Given the description of an element on the screen output the (x, y) to click on. 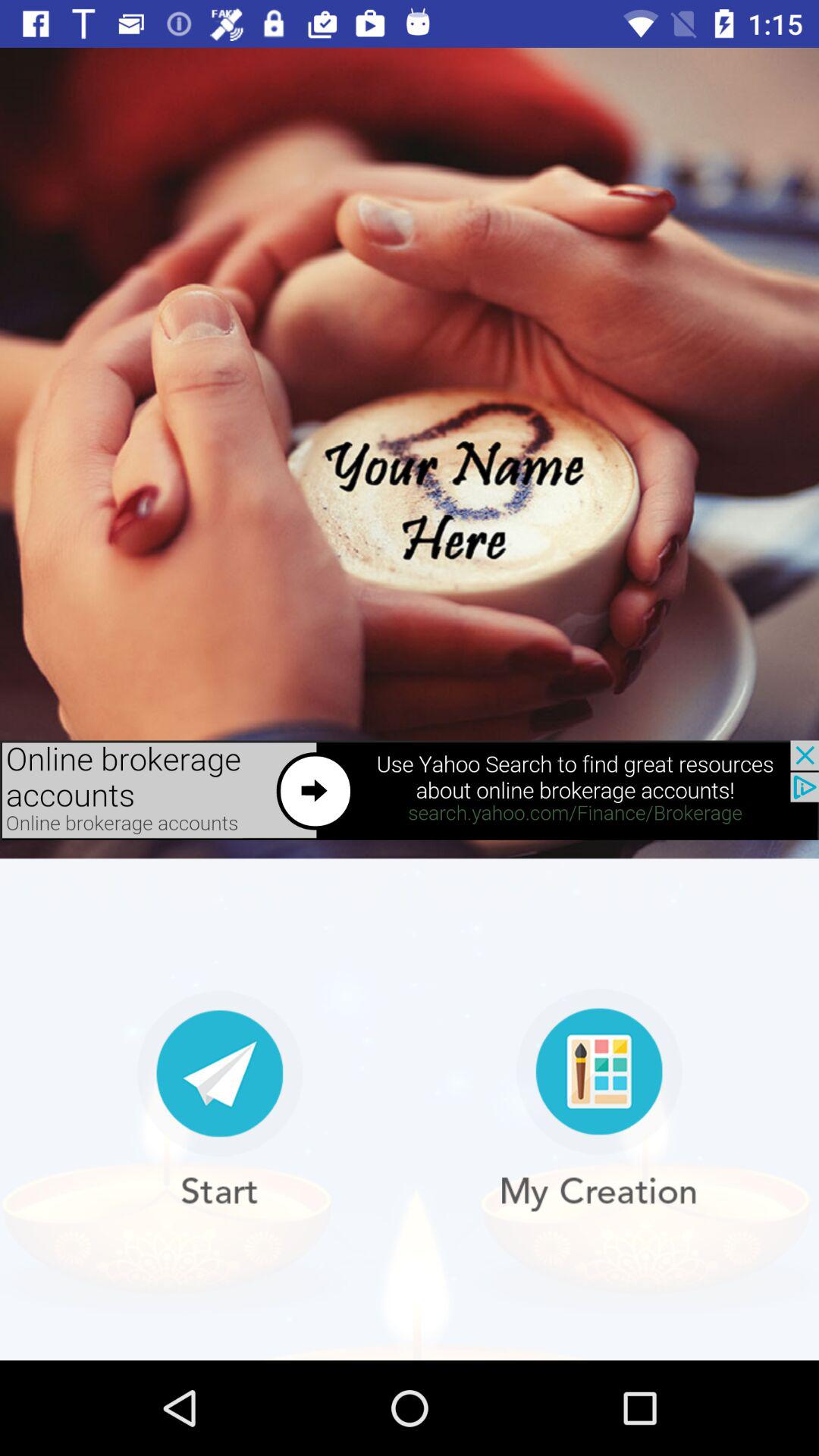
click to my creation (599, 1099)
